Given the description of an element on the screen output the (x, y) to click on. 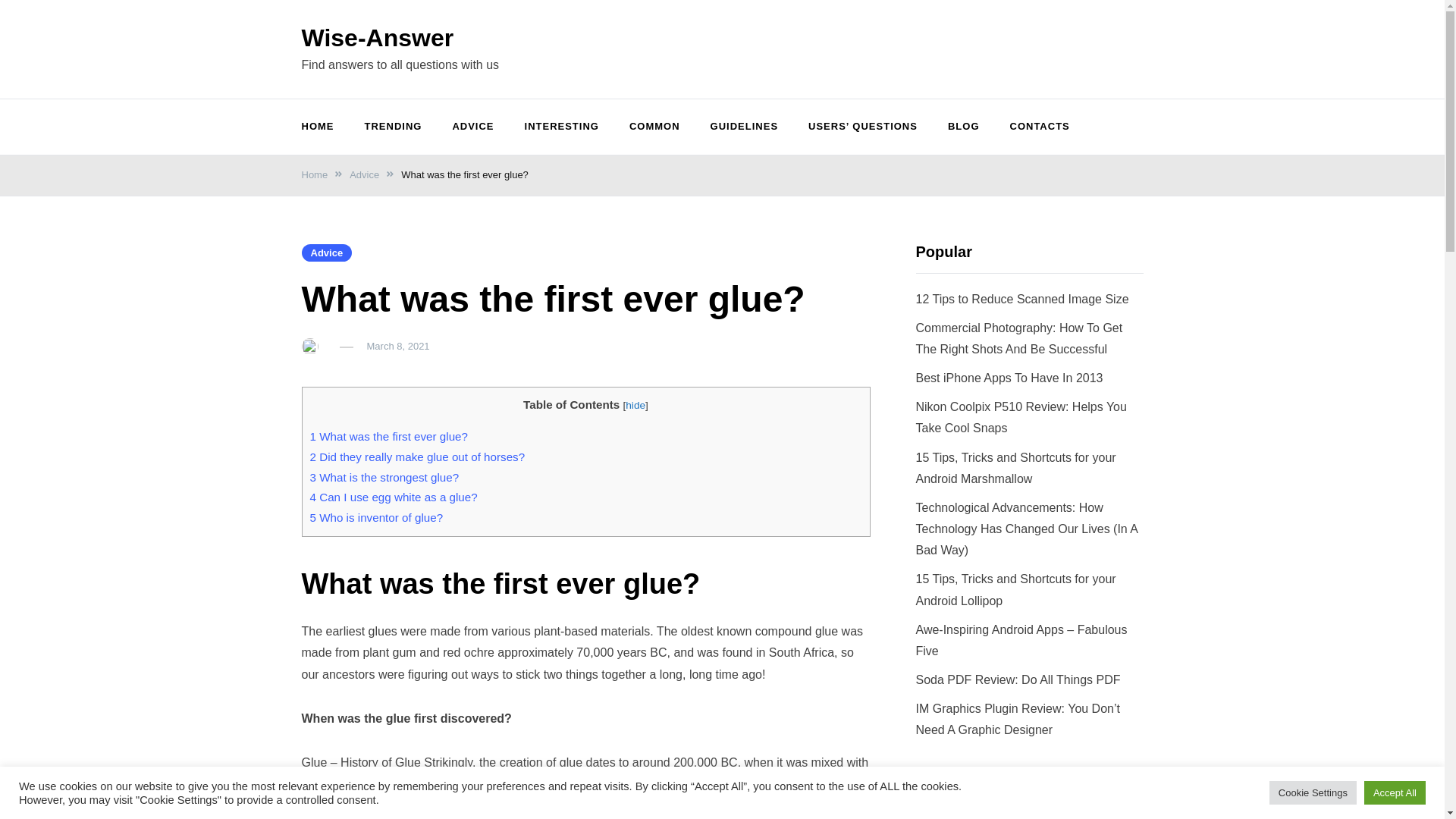
BLOG (963, 126)
GUIDELINES (744, 126)
3 What is the strongest glue? (383, 477)
12 Tips to Reduce Scanned Image Size (1022, 298)
ADVICE (472, 126)
INTERESTING (561, 126)
4 Can I use egg white as a glue? (392, 496)
1 What was the first ever glue? (387, 436)
CONTACTS (1039, 126)
